Given the description of an element on the screen output the (x, y) to click on. 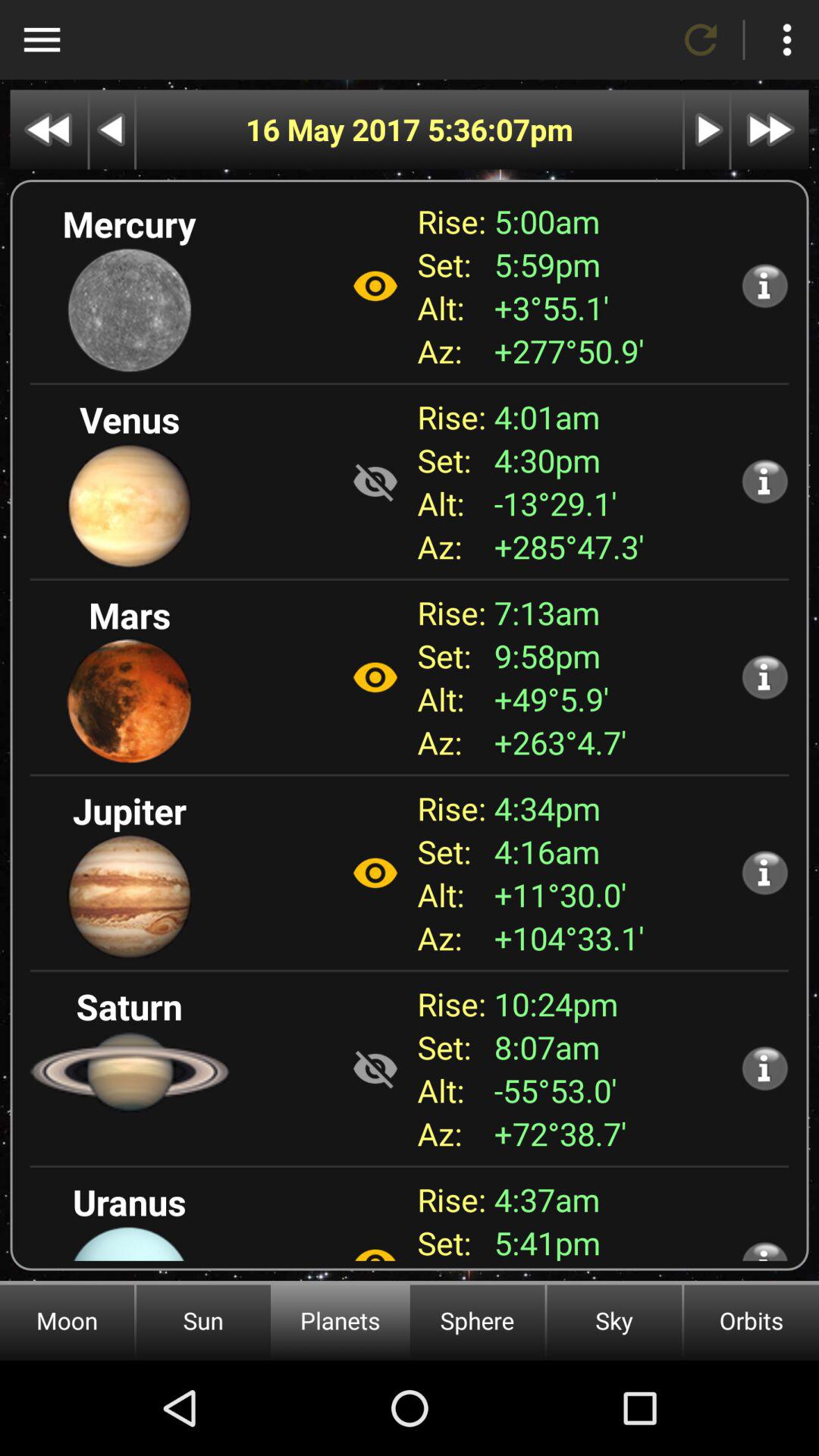
go back to start (48, 129)
